Given the description of an element on the screen output the (x, y) to click on. 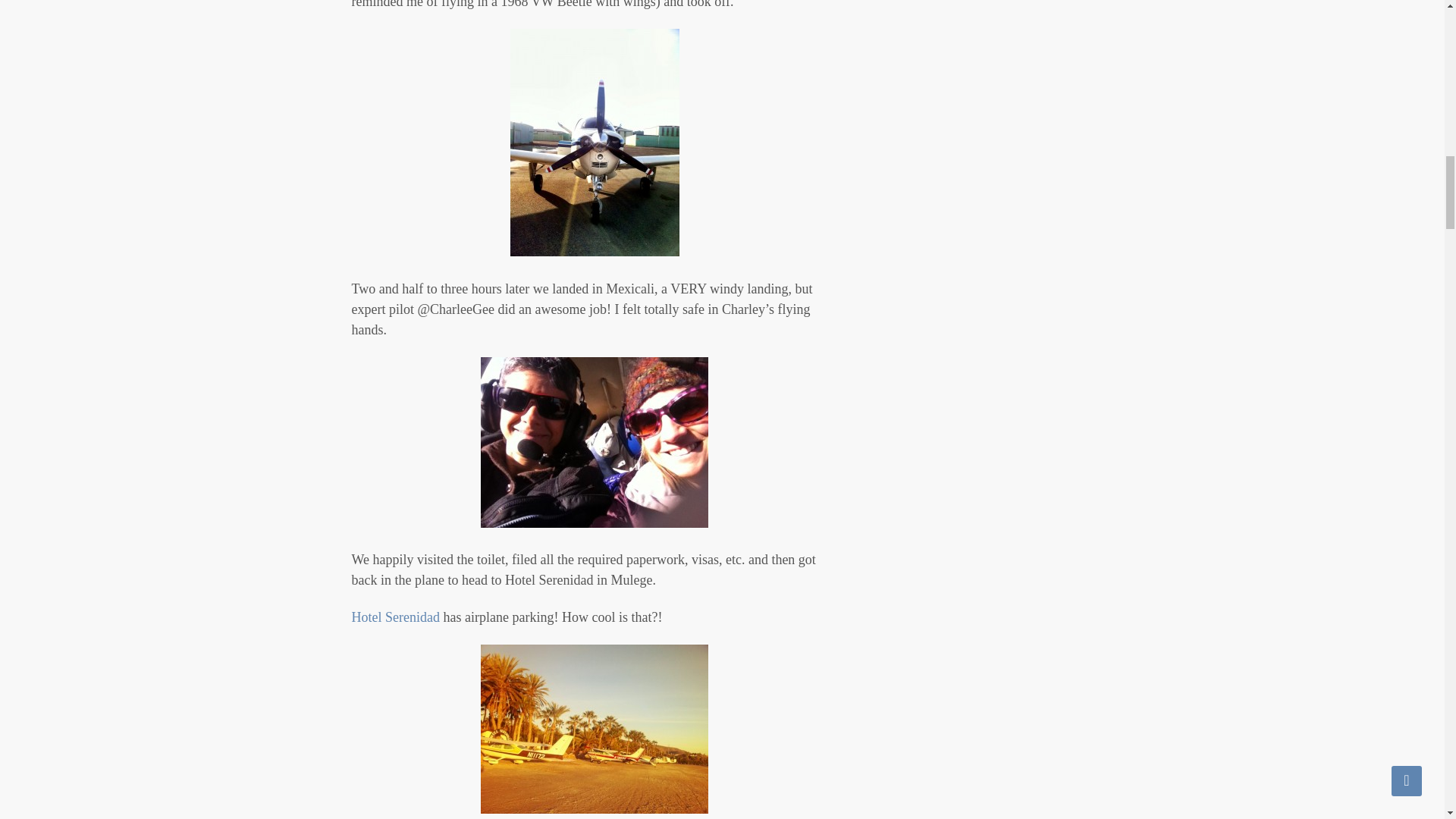
CeliaSallyFlying (593, 442)
Hotel Serenidad (395, 616)
